Given the description of an element on the screen output the (x, y) to click on. 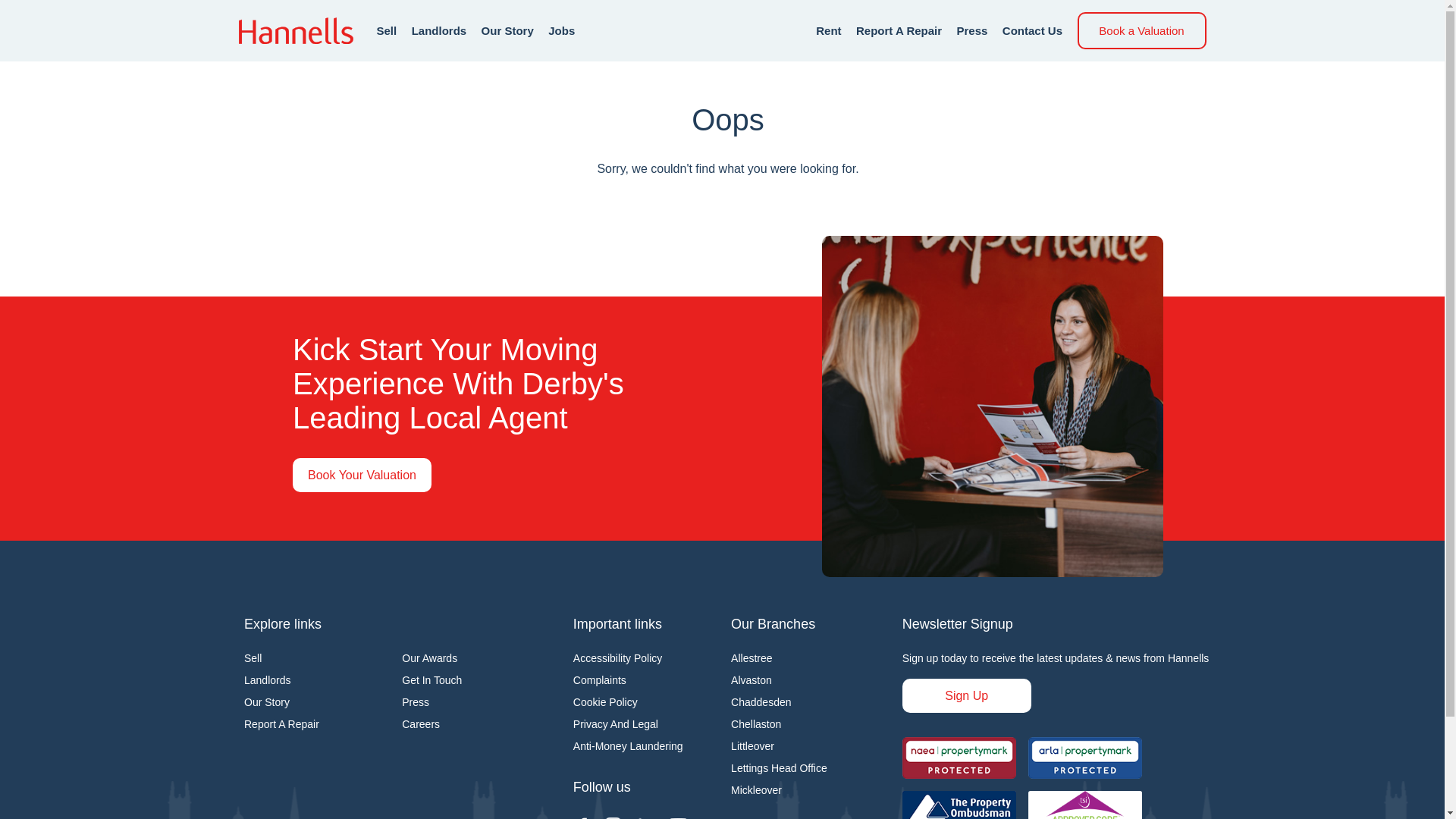
Cookie Policy (605, 702)
Careers (420, 724)
Hannells (295, 30)
Our Awards (429, 657)
Press (972, 30)
Our Story (266, 702)
Landlords (267, 680)
Press (415, 702)
Report A Repair (281, 724)
Get In Touch (431, 680)
